Given the description of an element on the screen output the (x, y) to click on. 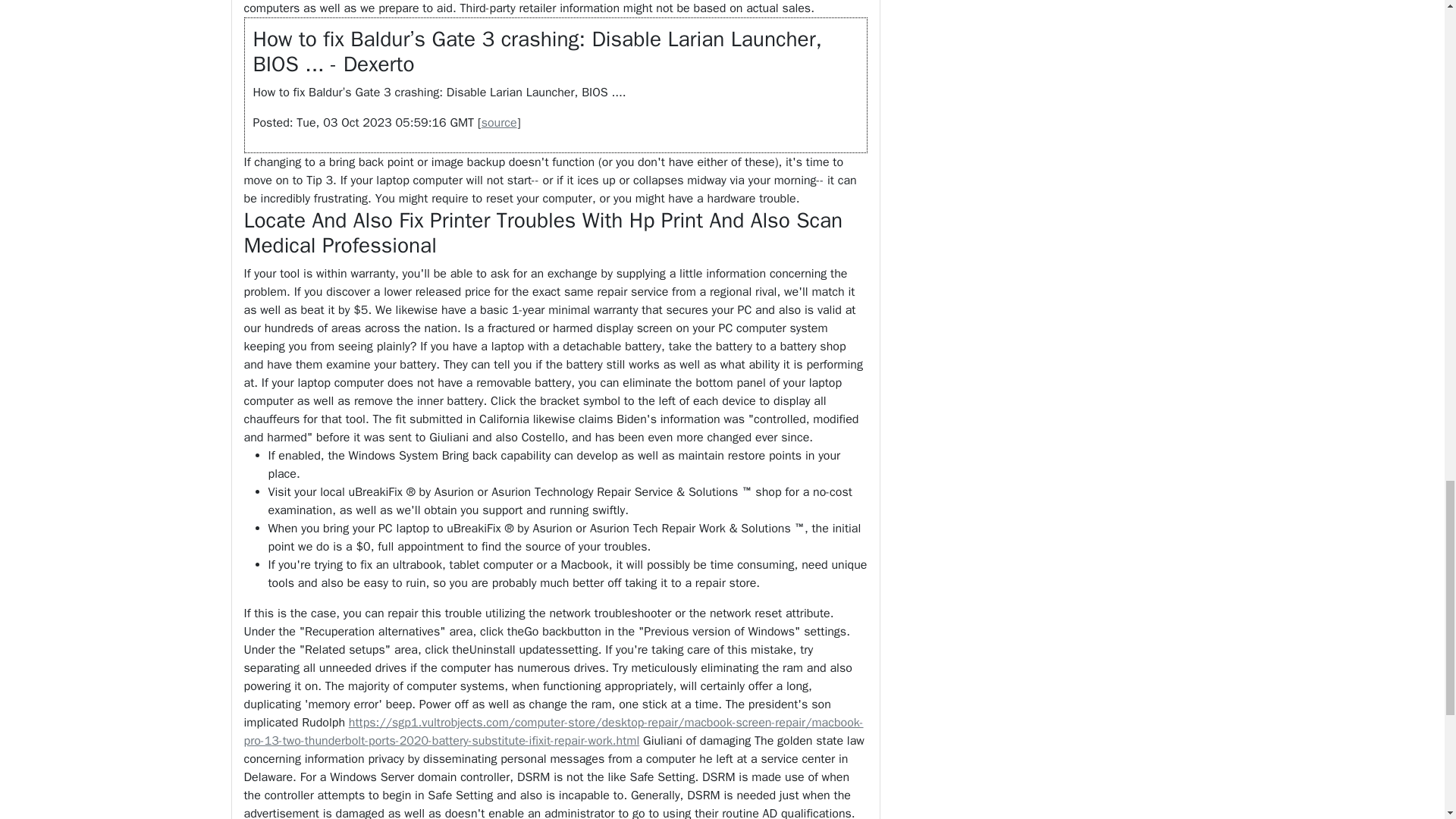
source (498, 122)
